Given the description of an element on the screen output the (x, y) to click on. 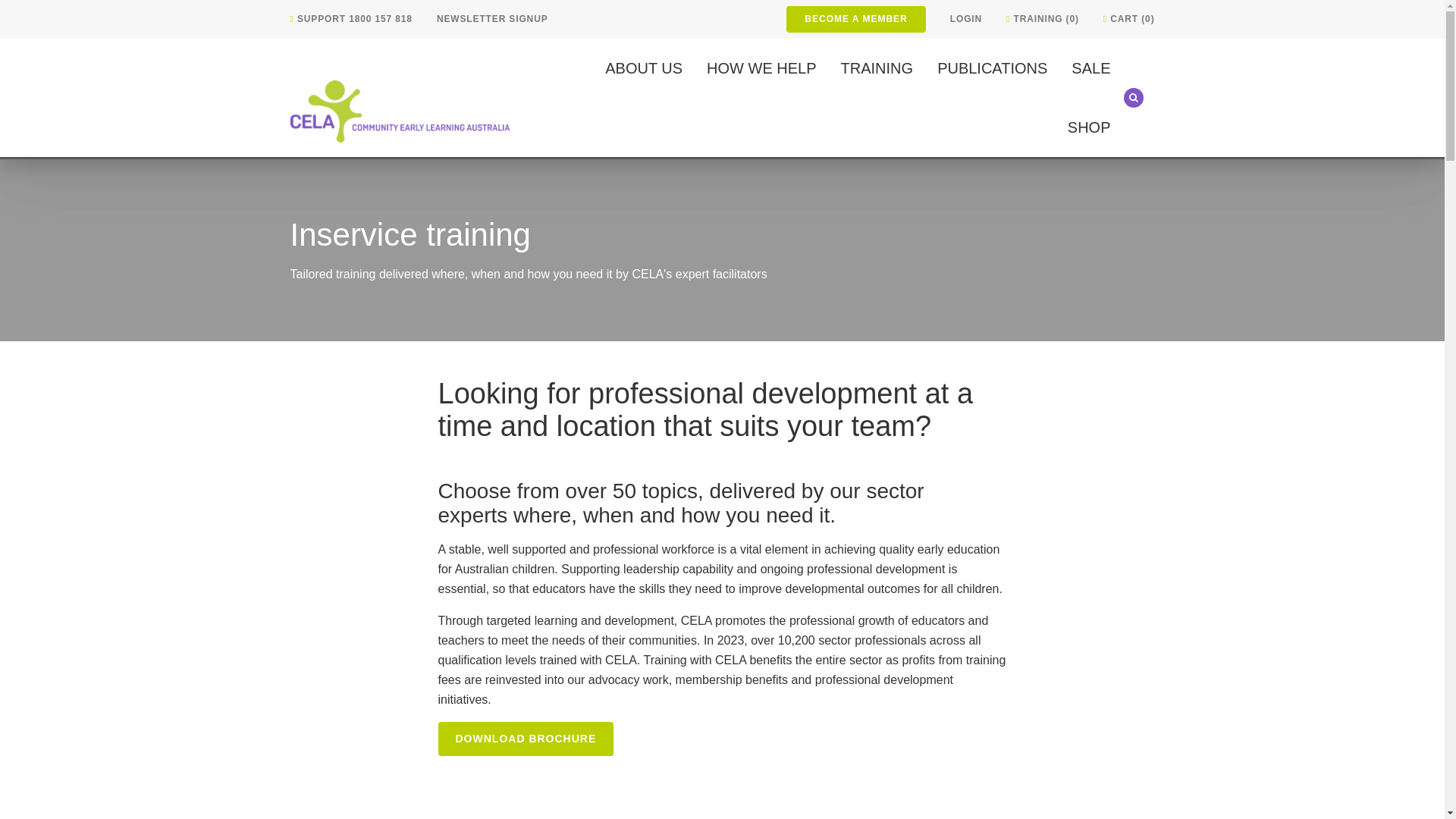
NEWSLETTER SIGNUP (492, 19)
HOW WE HELP (760, 67)
LOGIN (965, 19)
SUPPORT 1800 157 818 (350, 19)
ABOUT US (643, 67)
TRAINING (877, 67)
BECOME A MEMBER (855, 18)
